Given the description of an element on the screen output the (x, y) to click on. 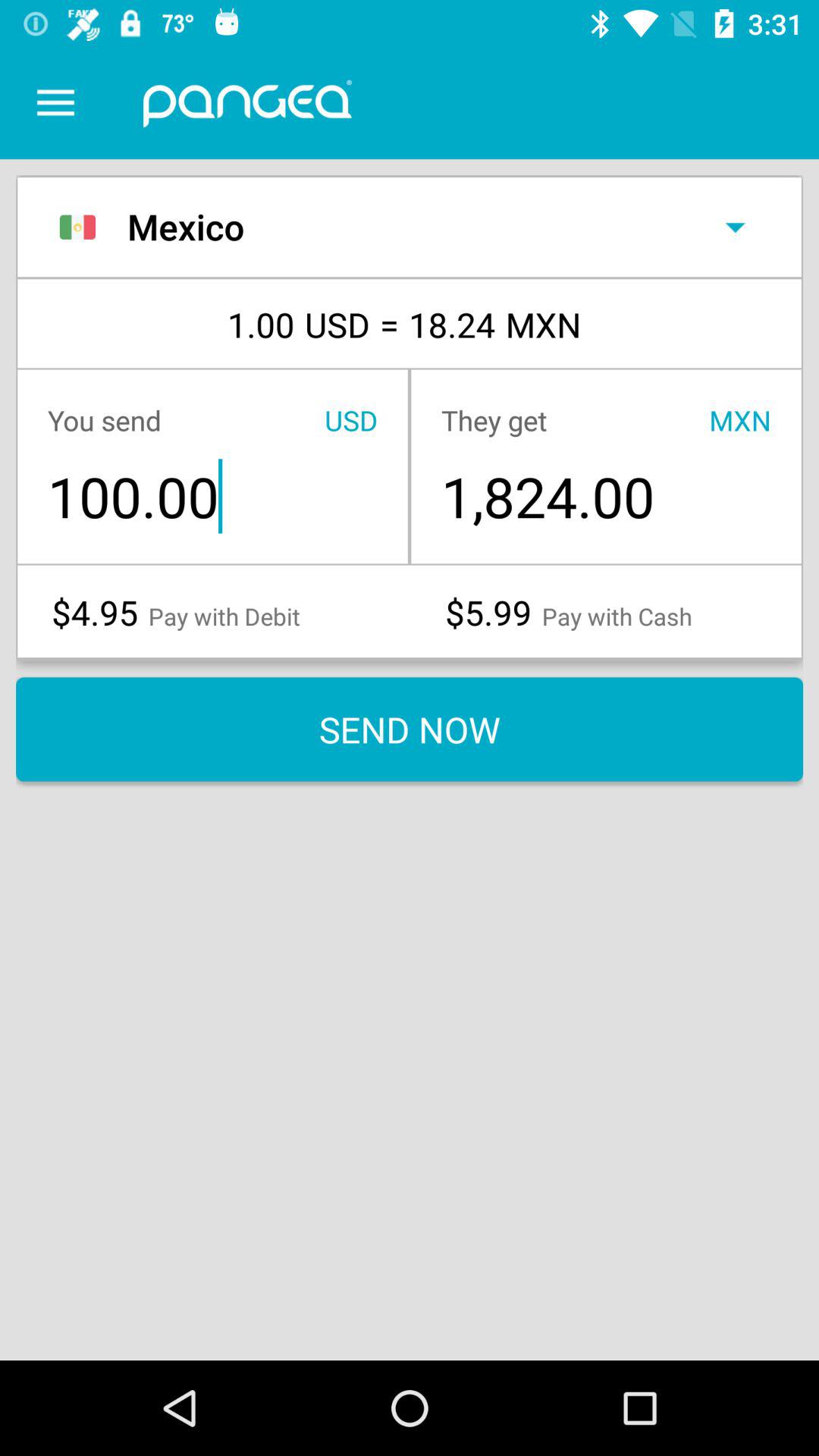
turn on the item below they get (606, 495)
